Given the description of an element on the screen output the (x, y) to click on. 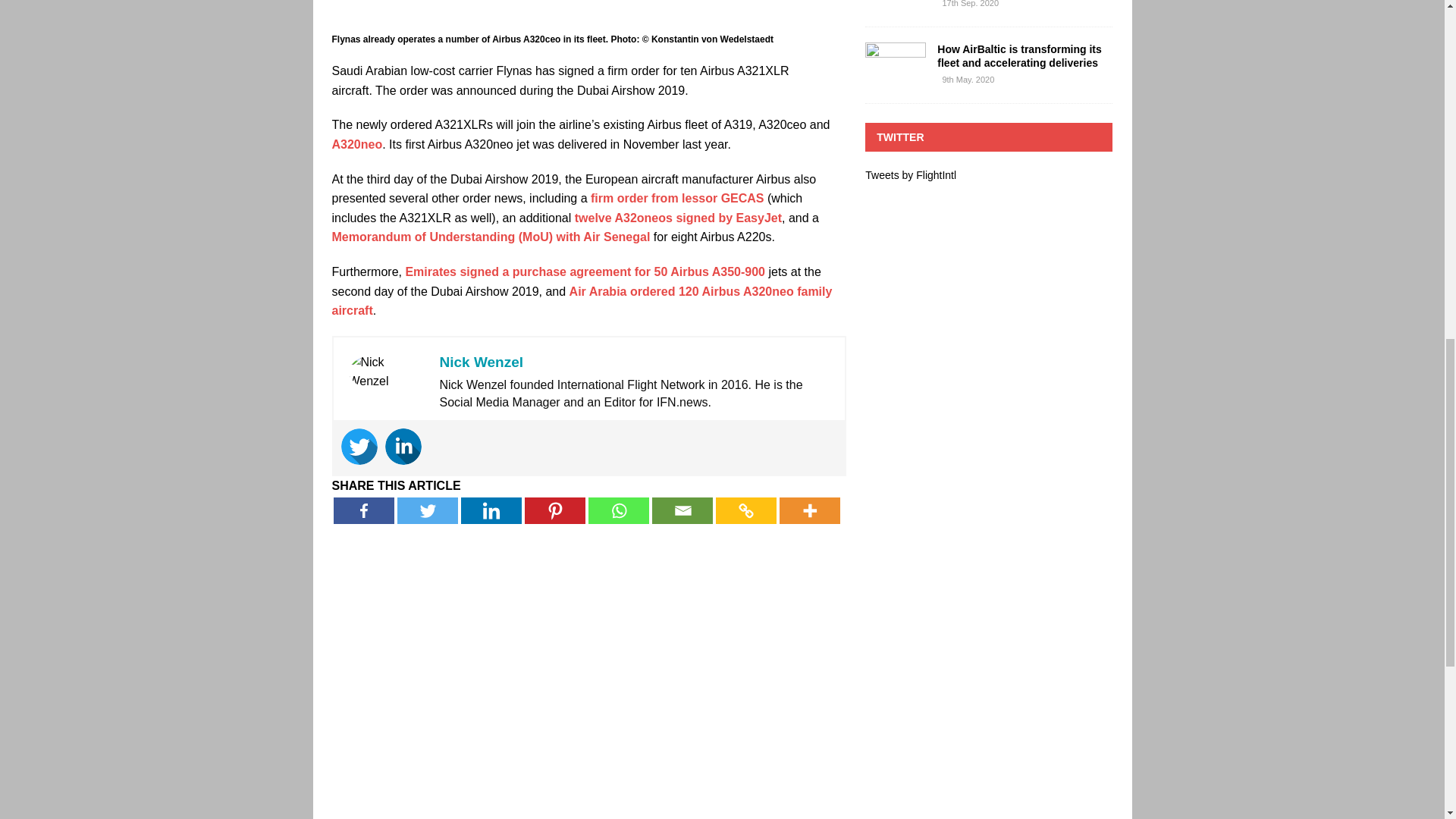
twelve A32oneos signed by EasyJet (678, 217)
firm order from lessor GECAS (677, 197)
Air Arabia ordered 120 Airbus A320neo family aircraft (581, 301)
Copy Link (746, 510)
Flynas Airbus A320 (588, 14)
Nick Wenzel (481, 361)
Twitter (427, 510)
Whatsapp (618, 510)
Email (682, 510)
Emirates signed a purchase agreement for 50 Airbus A350-900 (584, 271)
